Given the description of an element on the screen output the (x, y) to click on. 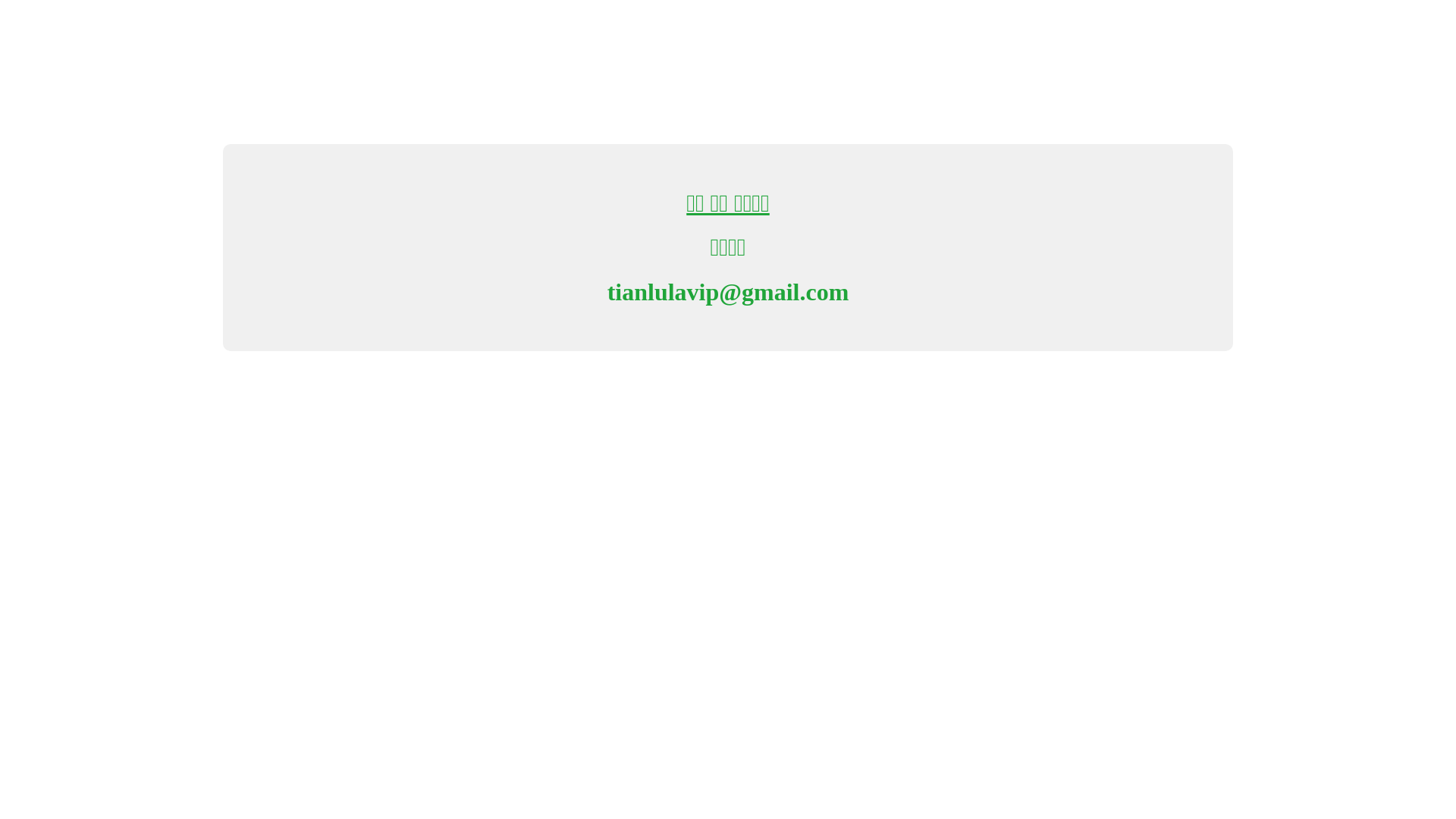
tianlulavip@gmail.com Element type: text (728, 291)
